Given the description of an element on the screen output the (x, y) to click on. 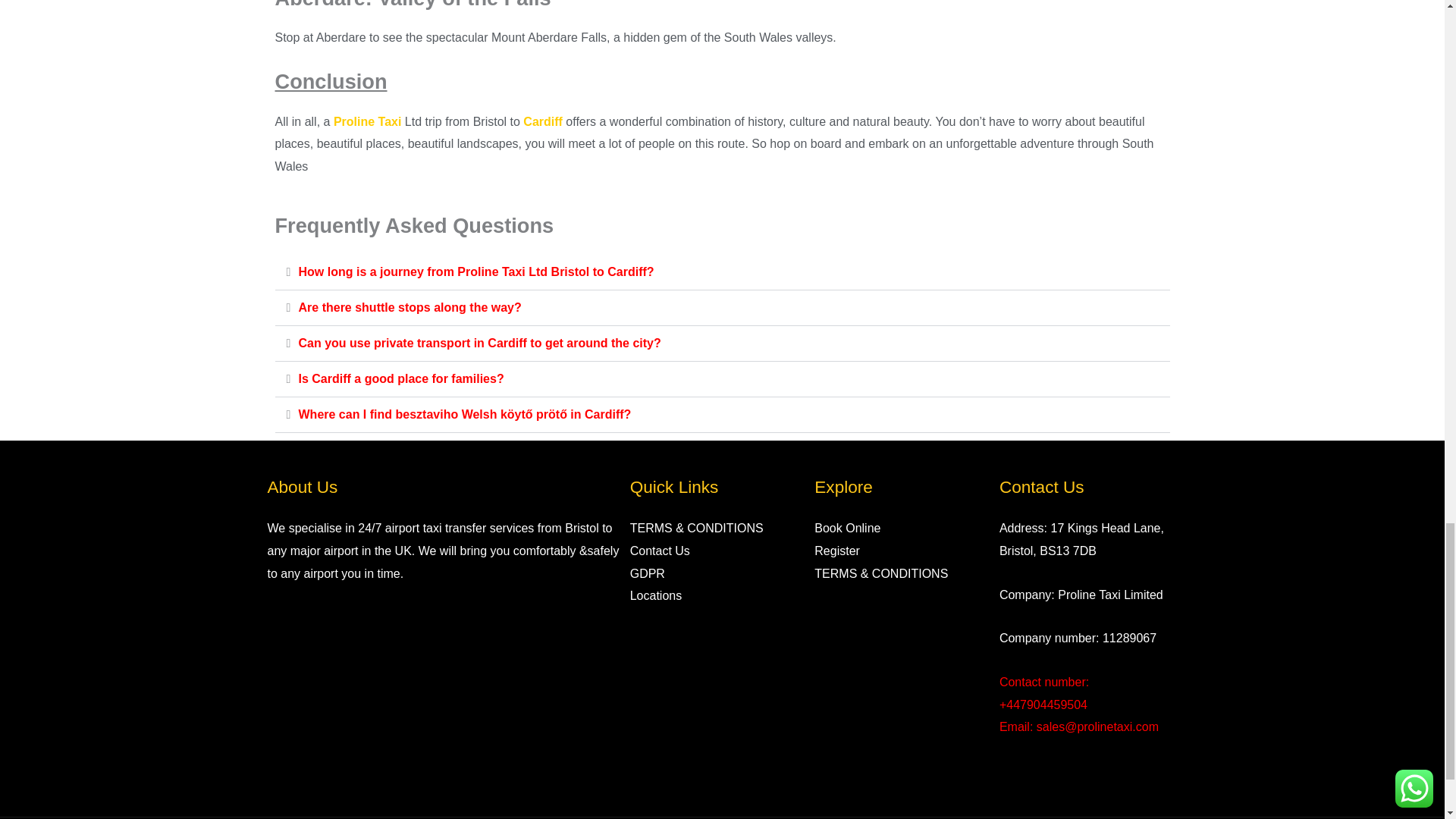
Proline Taxi (367, 121)
Cardiff (542, 121)
Is Cardiff a good place for families? (400, 378)
Are there shuttle stops along the way? (409, 307)
